Given the description of an element on the screen output the (x, y) to click on. 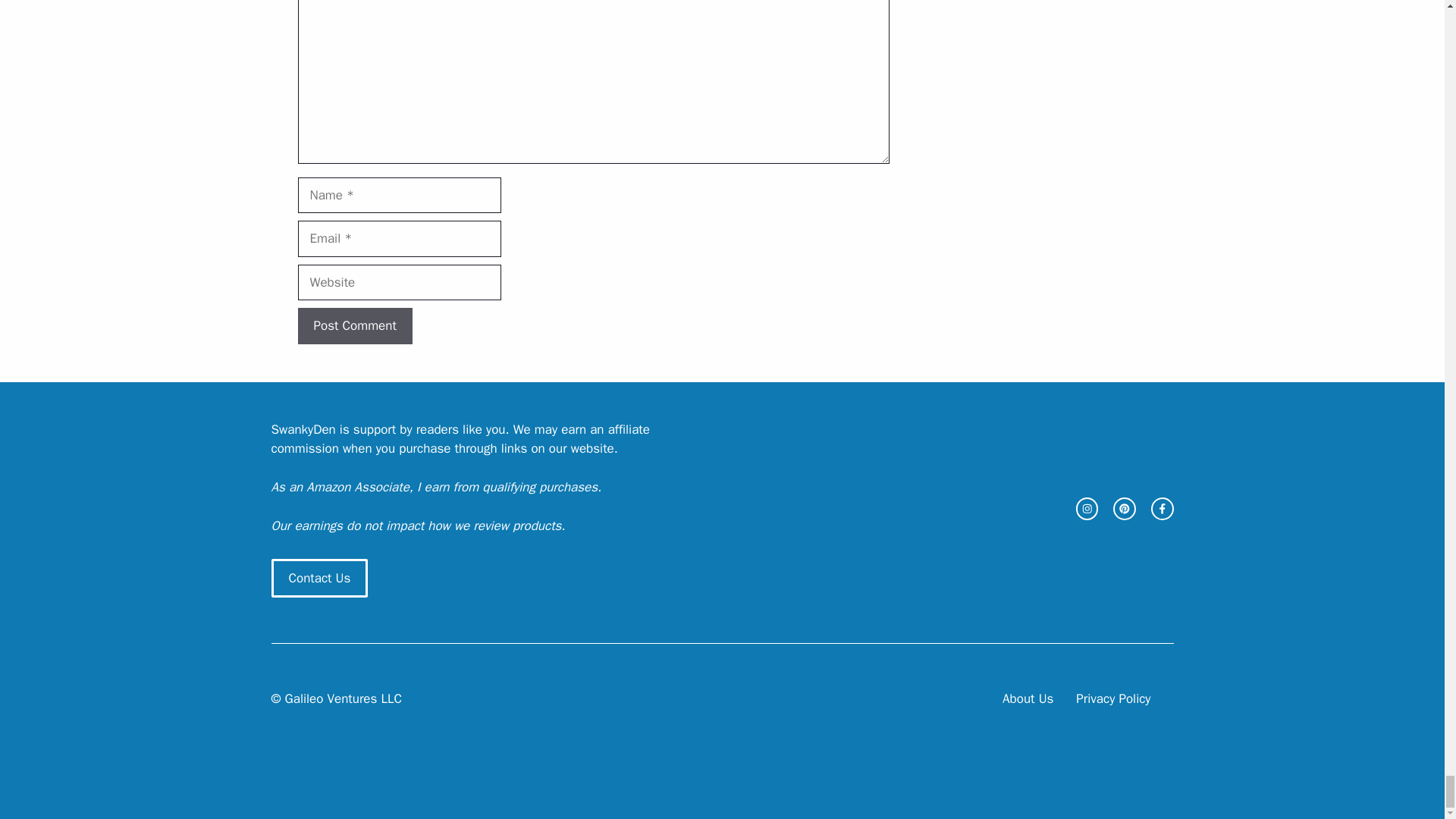
Post Comment (354, 325)
